Given the description of an element on the screen output the (x, y) to click on. 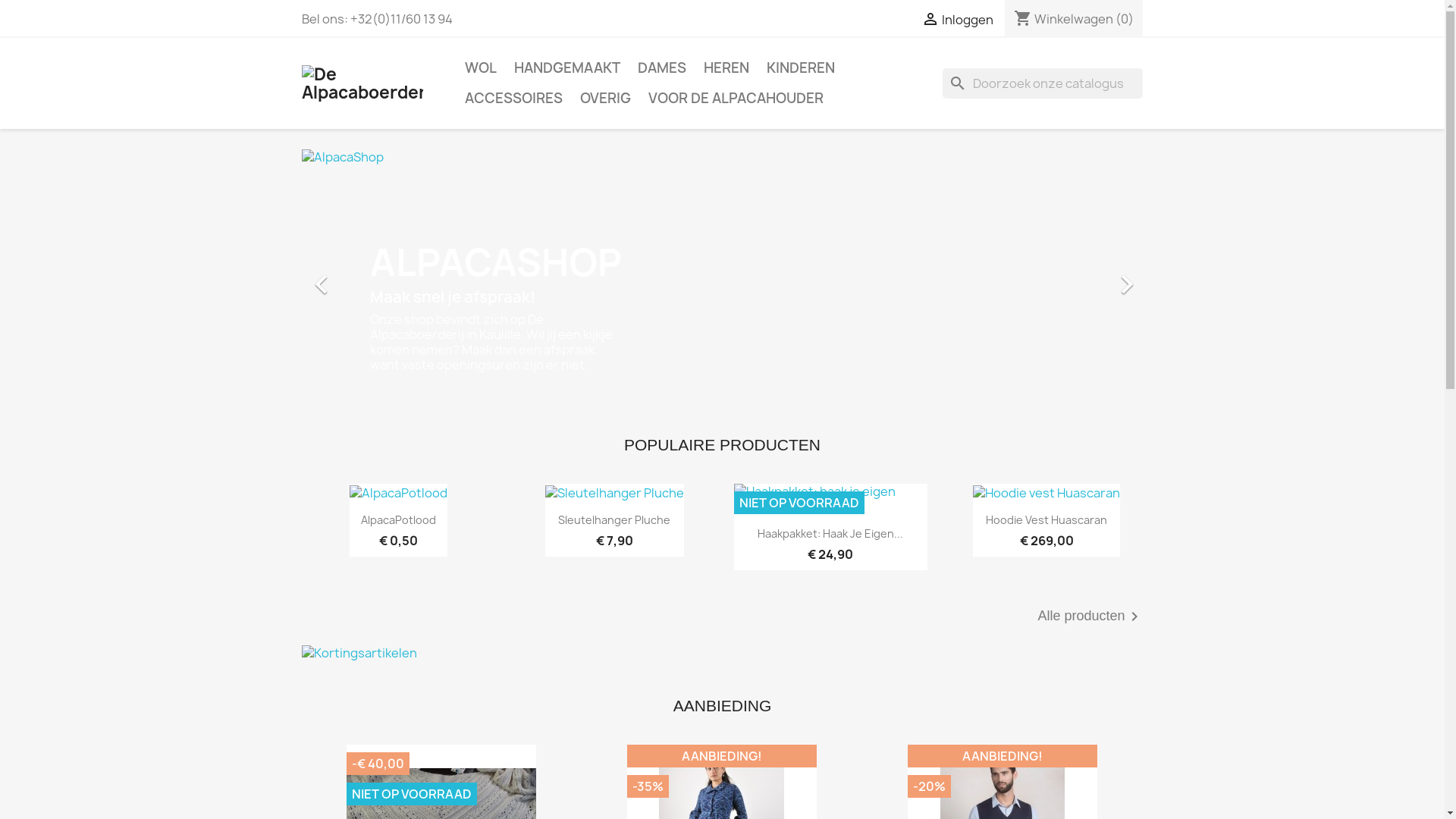
AlpacaPotlood Element type: text (398, 519)
DAMES Element type: text (661, 68)
Kortingsartikelen Element type: hover (722, 651)
KINDEREN Element type: text (799, 68)
Hoodie Vest Huascaran Element type: text (1046, 519)
VOOR DE ALPACAHOUDER Element type: text (735, 98)
WOL Element type: text (479, 68)
HANDGEMAAKT Element type: text (566, 68)
Haakpakket: Haak Je Eigen... Element type: text (830, 533)
Kortingsartikelen Element type: hover (359, 652)
HEREN Element type: text (726, 68)
ACCESSOIRES Element type: text (512, 98)
Sleutelhanger Pluche Element type: text (614, 519)
OVERIG Element type: text (604, 98)
